Given the description of an element on the screen output the (x, y) to click on. 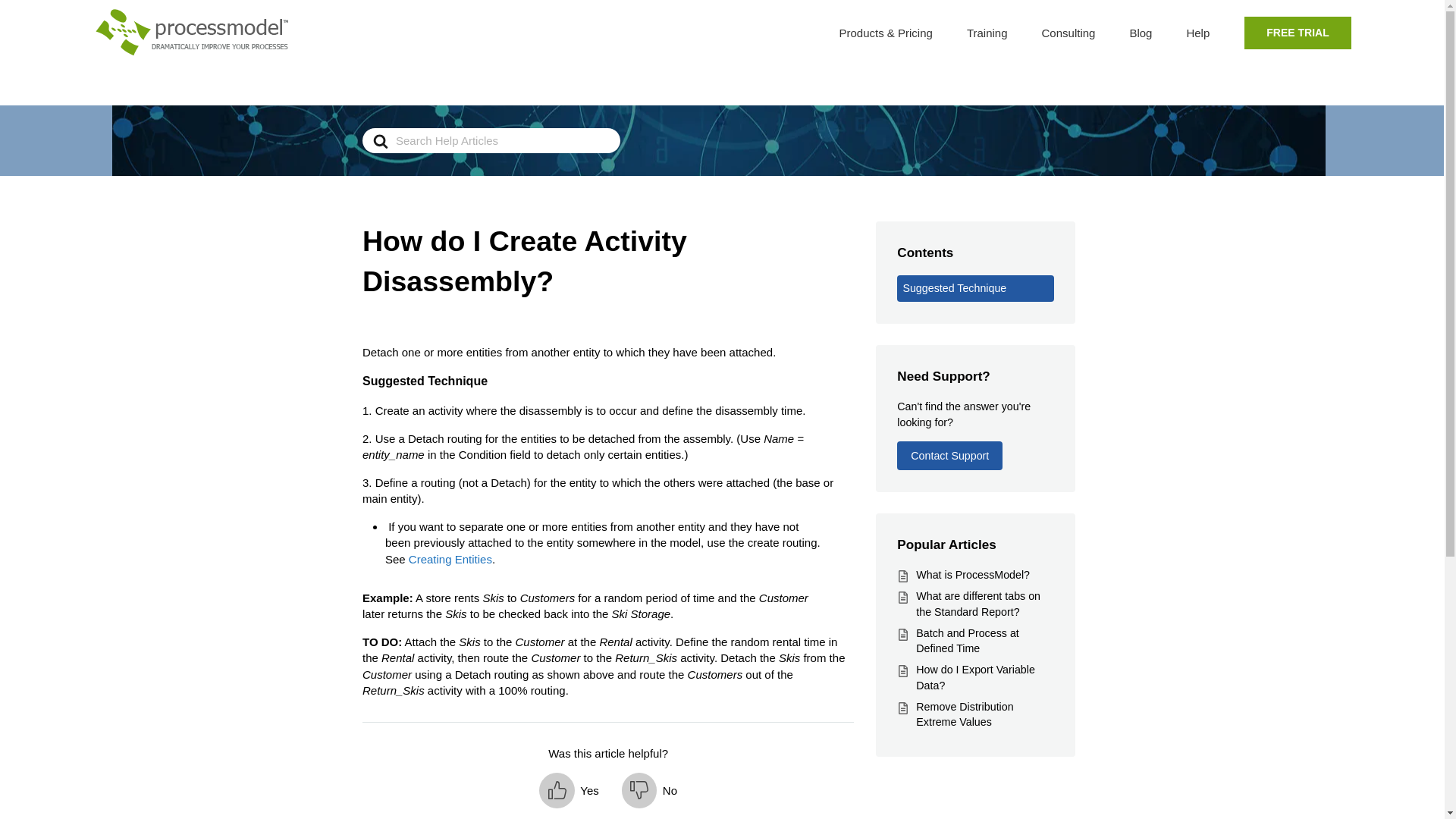
Remove Distribution Extreme Values (964, 714)
What are different tabs on the Standard Report? (978, 603)
Get started with a Free ProcessModel Trial (1297, 31)
No (649, 790)
FREE TRIAL (1297, 31)
Contact Support (949, 455)
Batch and Process at Defined Time (966, 641)
Suggested Technique (974, 288)
What is ProcessModel? (972, 574)
Creating Entities (450, 558)
